Given the description of an element on the screen output the (x, y) to click on. 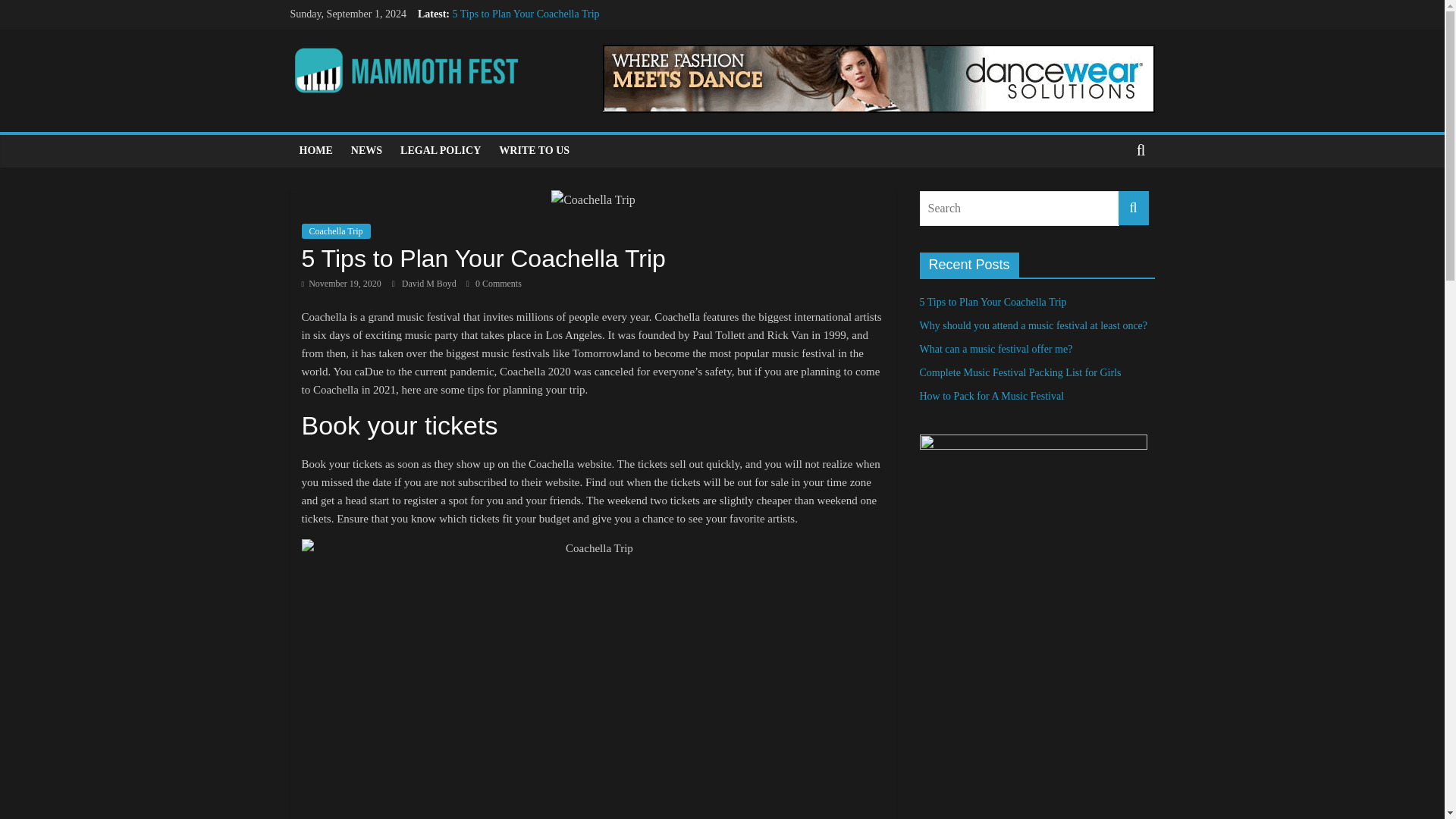
How to Pack for A Music Festival (523, 81)
Why should you attend a music festival at least once? (1032, 325)
Complete Music Festival Packing List for Girls (1019, 372)
Coachella Trip (336, 231)
5 Tips to Plan Your Coachella Trip (991, 301)
Why should you attend a music festival at least once? (565, 30)
How to Pack for A Music Festival (523, 81)
6:33 am (341, 283)
How to Pack for A Music Festival (991, 396)
HOME (314, 151)
